Given the description of an element on the screen output the (x, y) to click on. 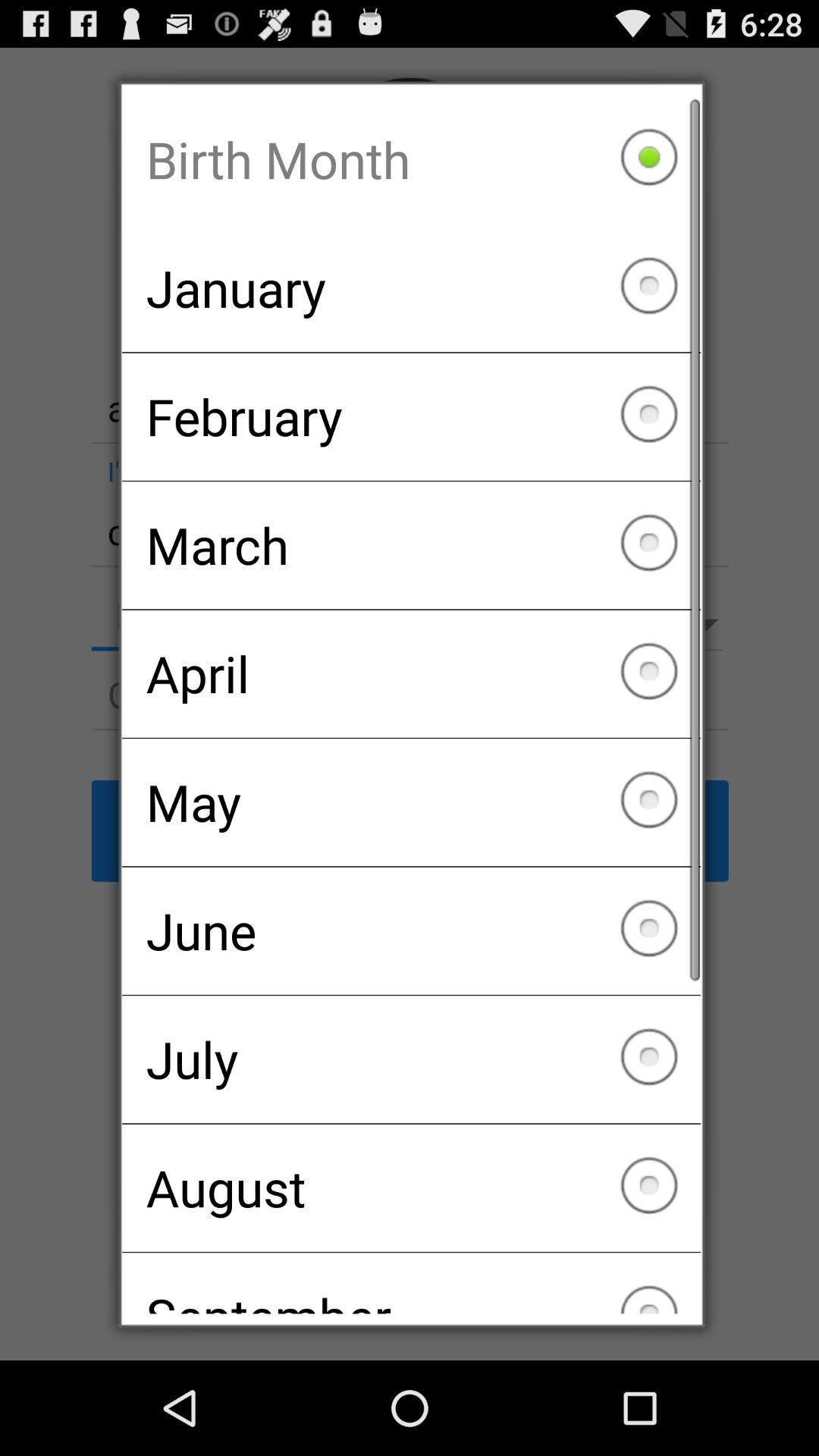
choose february (411, 416)
